Given the description of an element on the screen output the (x, y) to click on. 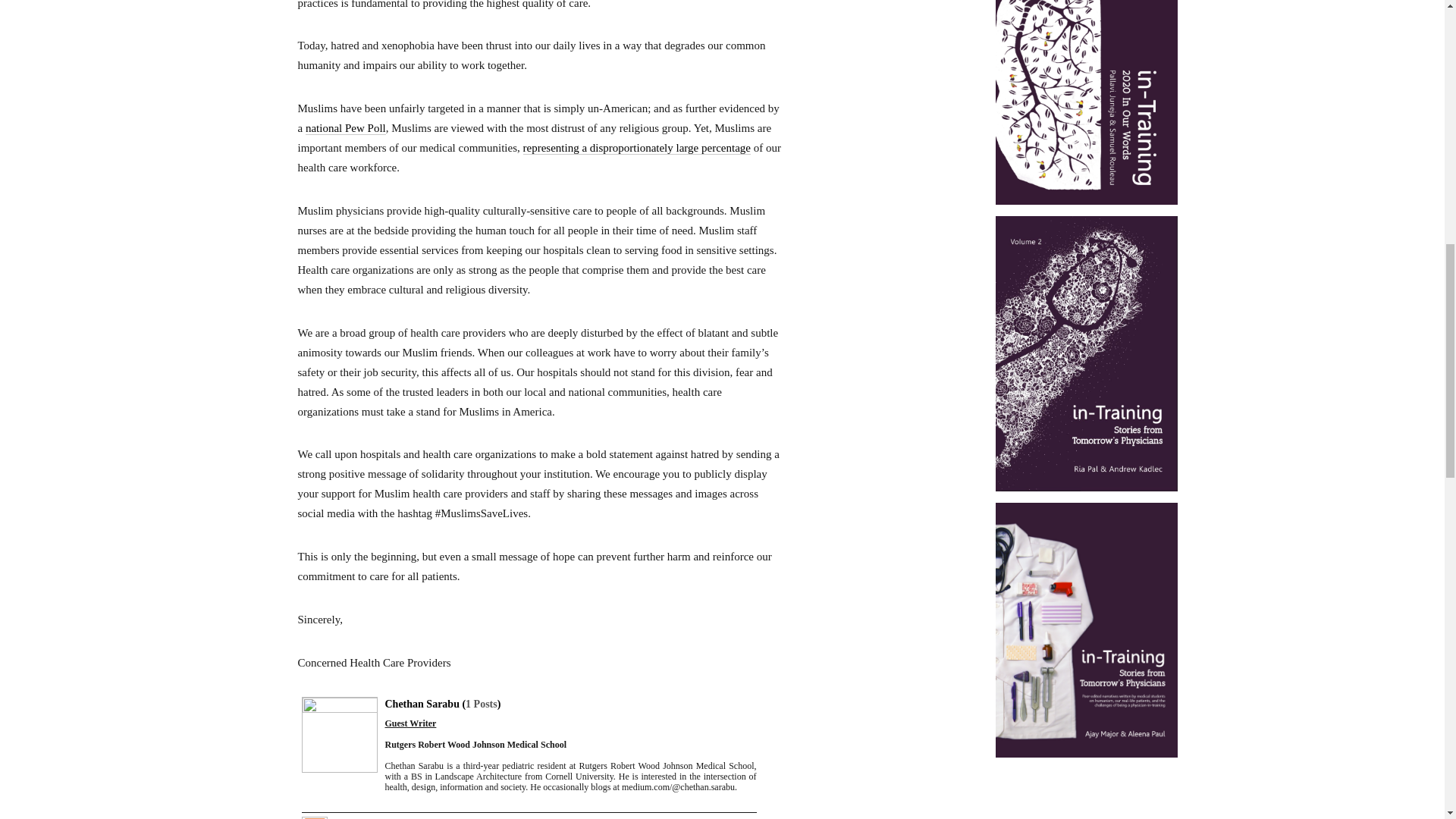
representing a disproportionately large percentage (636, 147)
national Pew Poll (345, 128)
1 Posts (481, 704)
